Given the description of an element on the screen output the (x, y) to click on. 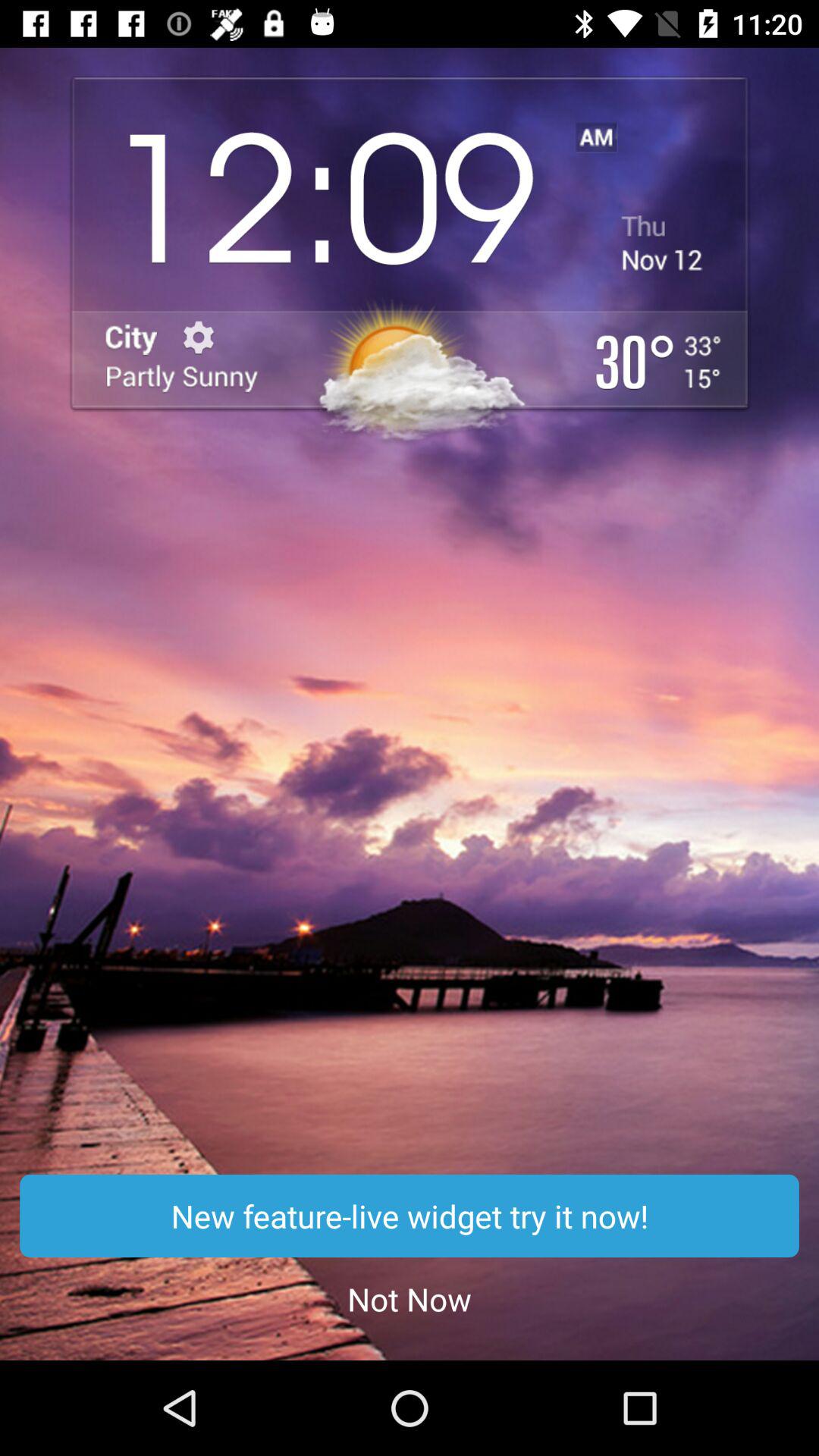
swipe to the new feature live icon (409, 1215)
